Given the description of an element on the screen output the (x, y) to click on. 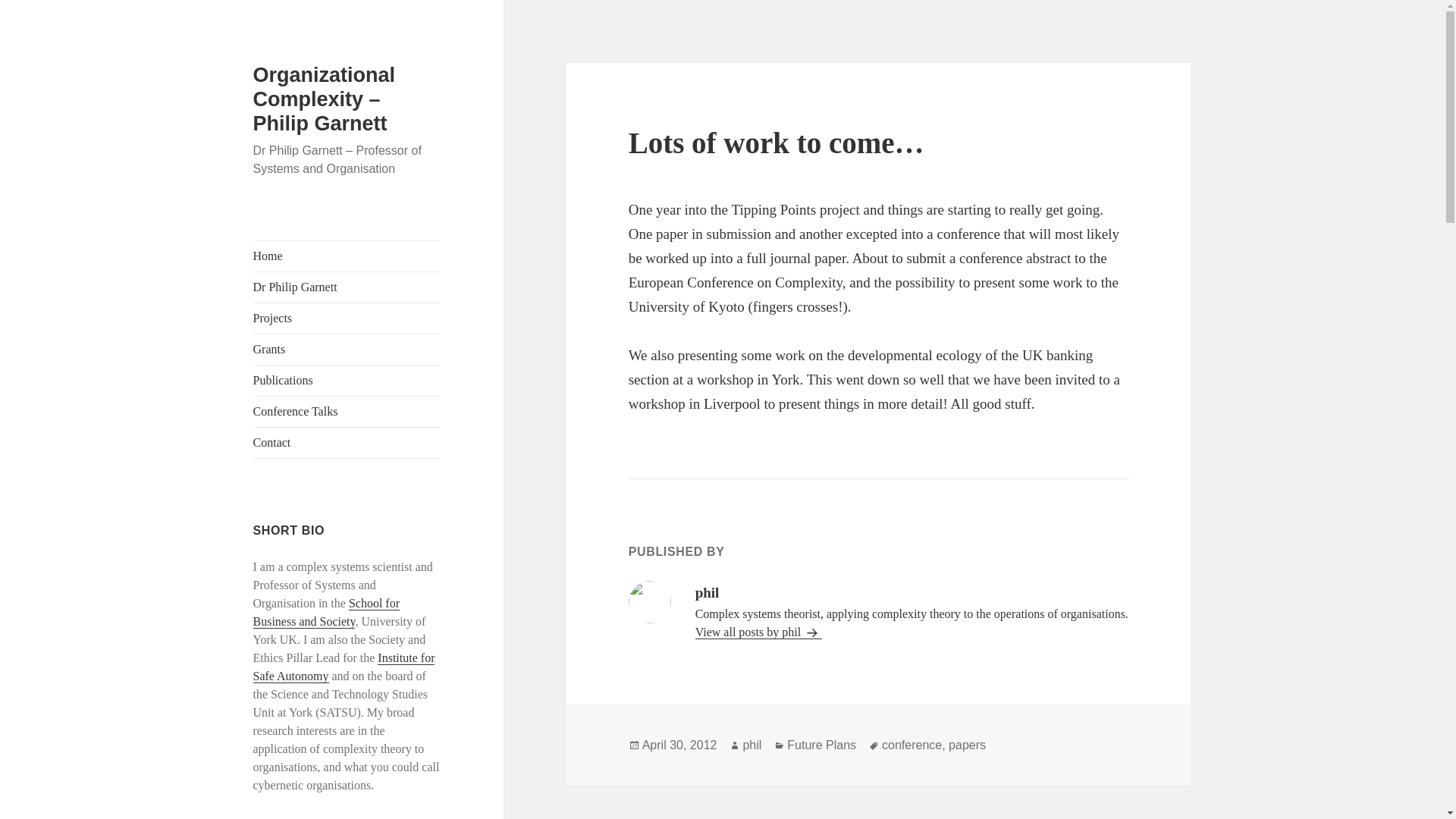
School for Business and Society (325, 612)
Projects (347, 318)
Dr Philip Garnett (347, 286)
Contact (347, 442)
Conference Talks (347, 411)
Publications (347, 380)
Home (347, 255)
Grants (347, 349)
Institute for Safe Autonomy (344, 667)
